Given the description of an element on the screen output the (x, y) to click on. 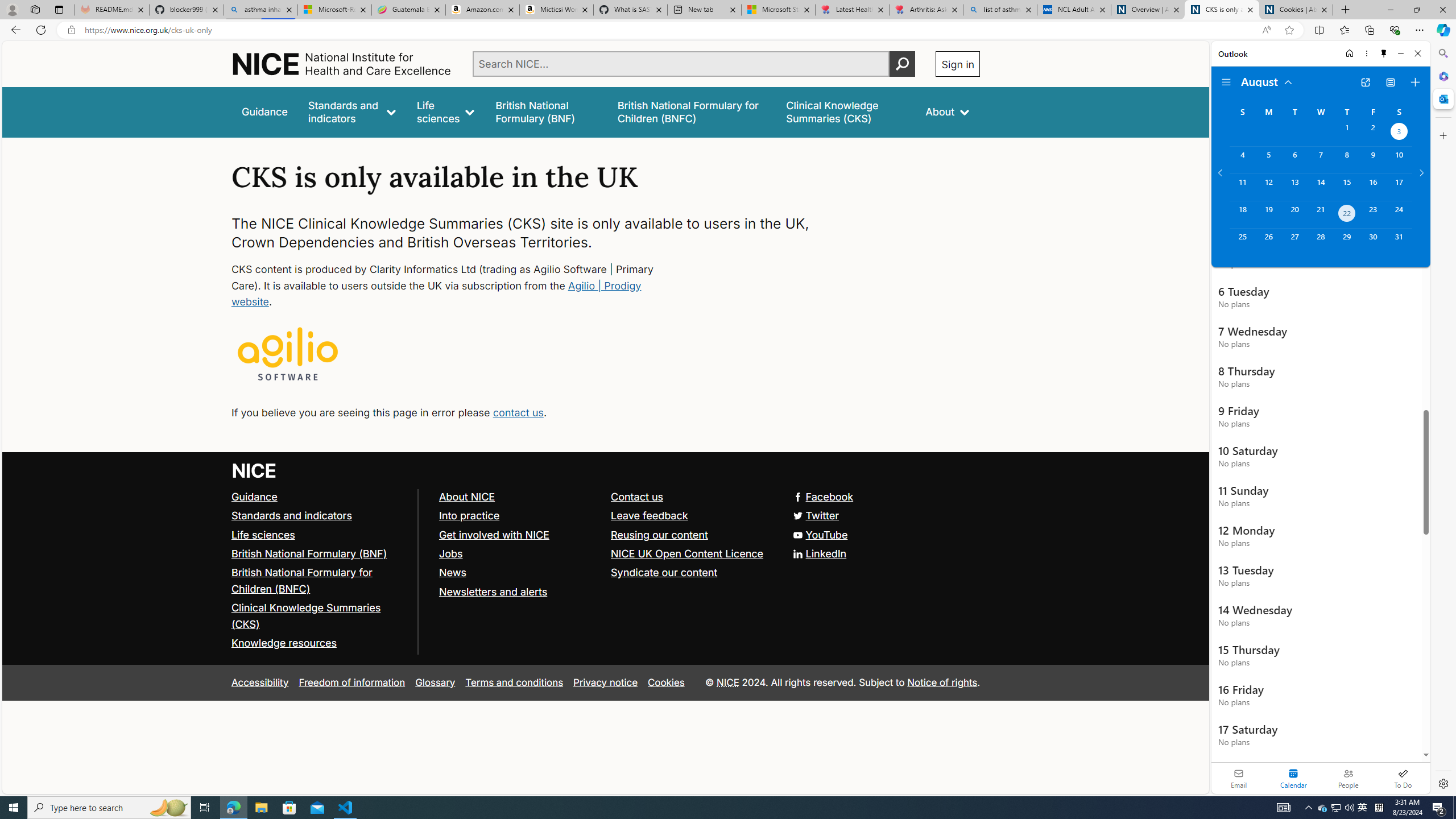
NCL Adult Asthma Inhaler Choice Guideline (1073, 9)
Facebook (605, 496)
Facebook (823, 496)
Friday, August 2, 2024.  (1372, 132)
Wednesday, August 14, 2024.  (1320, 186)
Jobs (518, 553)
list of asthma inhalers uk - Search (1000, 9)
